Given the description of an element on the screen output the (x, y) to click on. 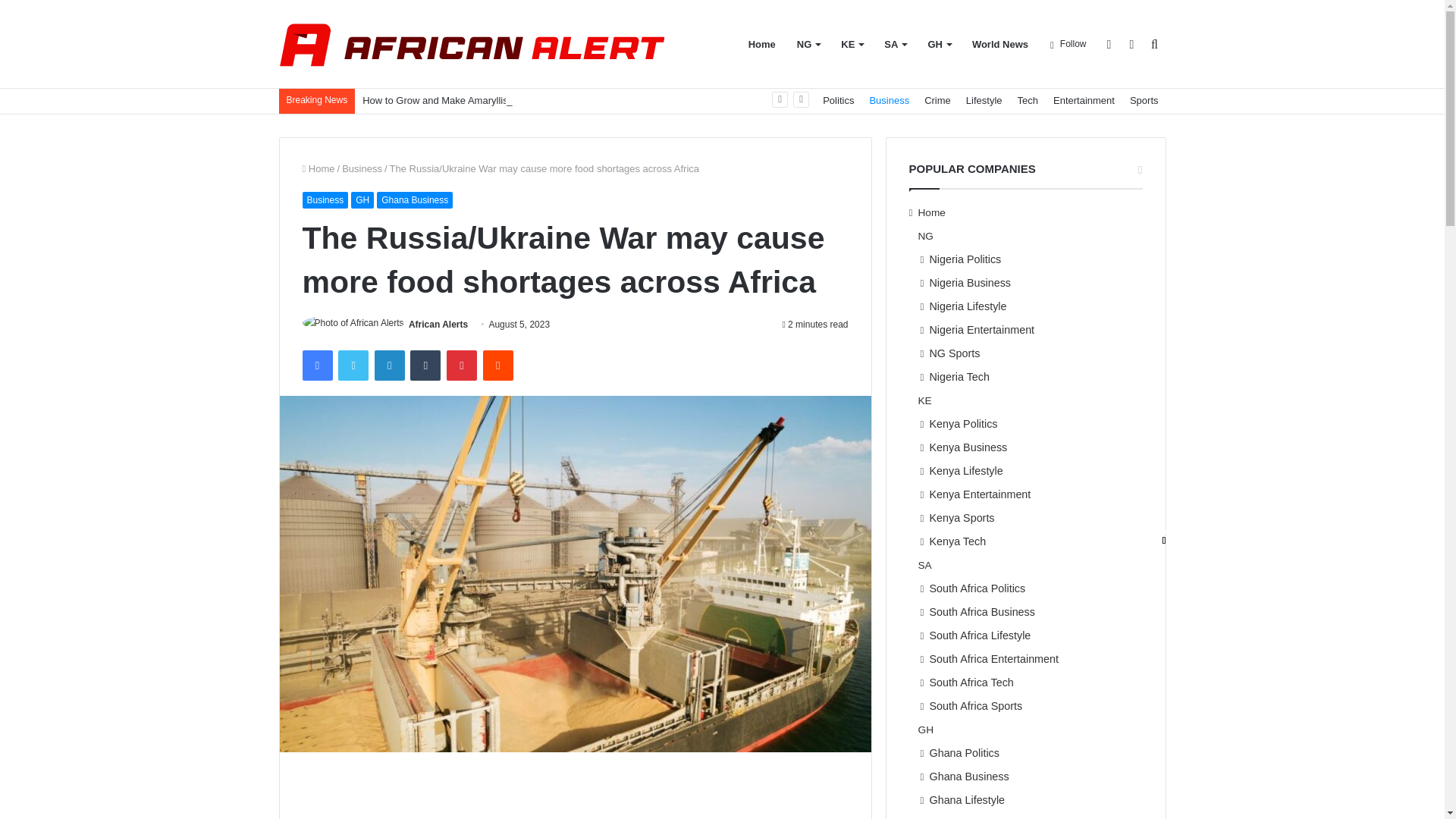
Twitter (352, 365)
Tumblr (425, 365)
African Alerts (438, 324)
LinkedIn (389, 365)
Pinterest (461, 365)
African Alerts (471, 43)
Facebook (316, 365)
Reddit (498, 365)
